Given the description of an element on the screen output the (x, y) to click on. 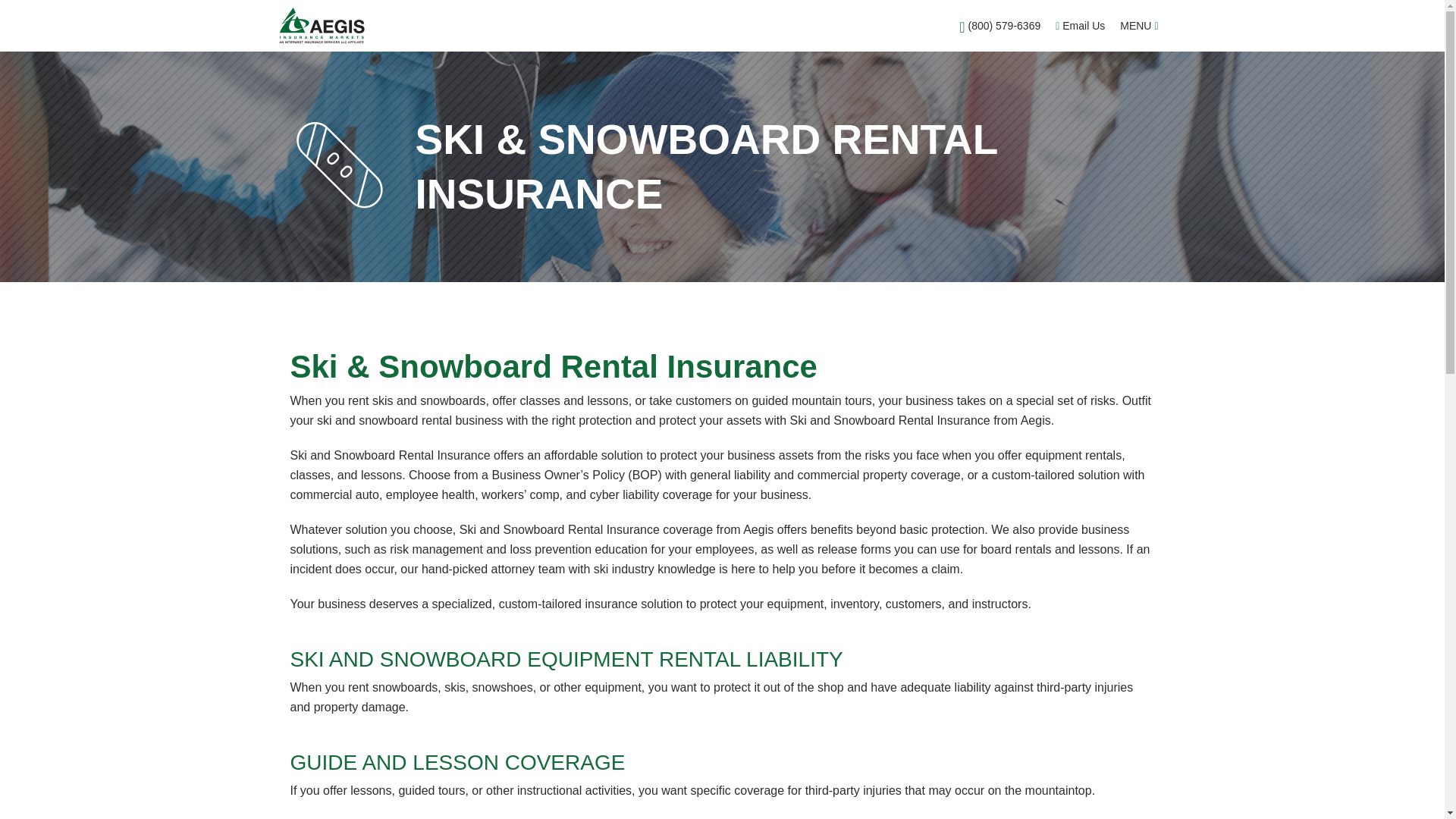
 Email Us (1080, 25)
MENU (1138, 25)
